Given the description of an element on the screen output the (x, y) to click on. 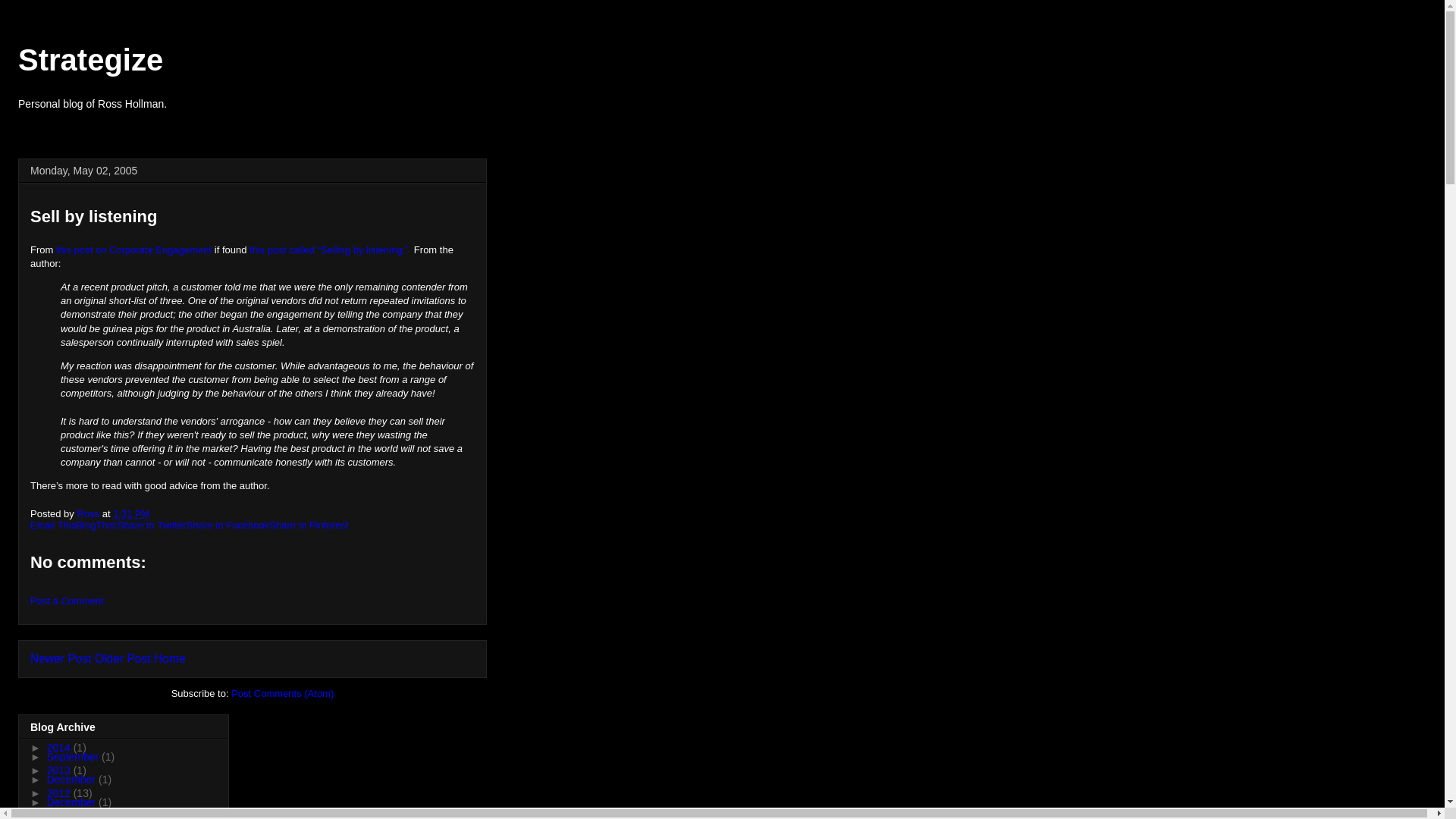
December (72, 802)
Older Post (122, 658)
Strategize (90, 59)
Share to Twitter (151, 524)
BlogThis! (95, 524)
BlogThis! (95, 524)
Email This (52, 524)
December (72, 779)
Share to Pinterest (308, 524)
Share to Twitter (151, 524)
November (72, 813)
2013 (60, 770)
Post a Comment (66, 600)
Share to Pinterest (308, 524)
Newer Post (60, 658)
